Given the description of an element on the screen output the (x, y) to click on. 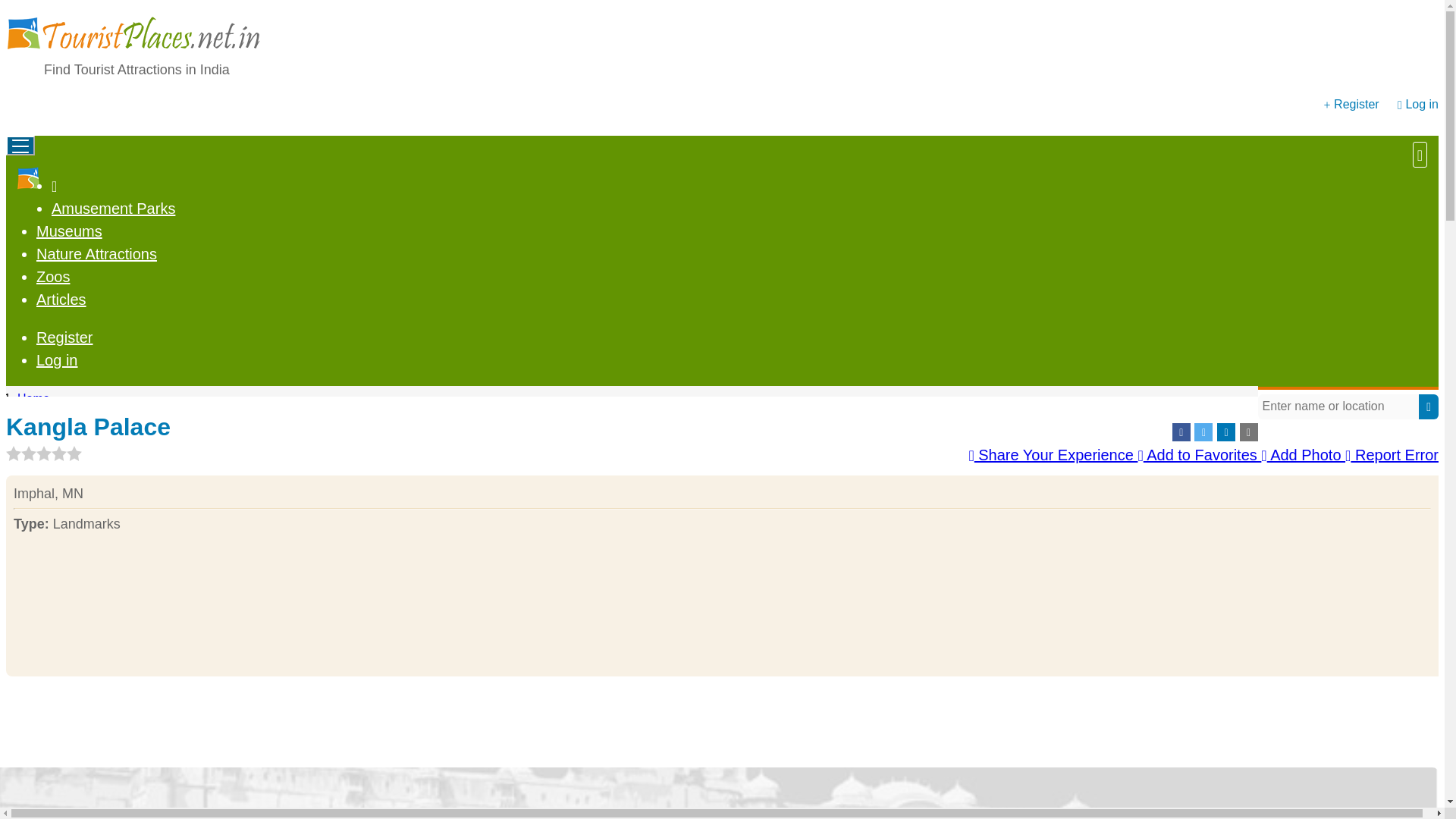
Register (64, 337)
Share your experience of visiting Kangla Palace with others (1052, 454)
Add Kangla Palace to your favorite destinations. (1198, 454)
Nature Attractions (96, 253)
Museums (68, 230)
Find Tourist Attractions in India (136, 69)
Report Error (1391, 454)
Articles (60, 299)
Log in (57, 360)
